Given the description of an element on the screen output the (x, y) to click on. 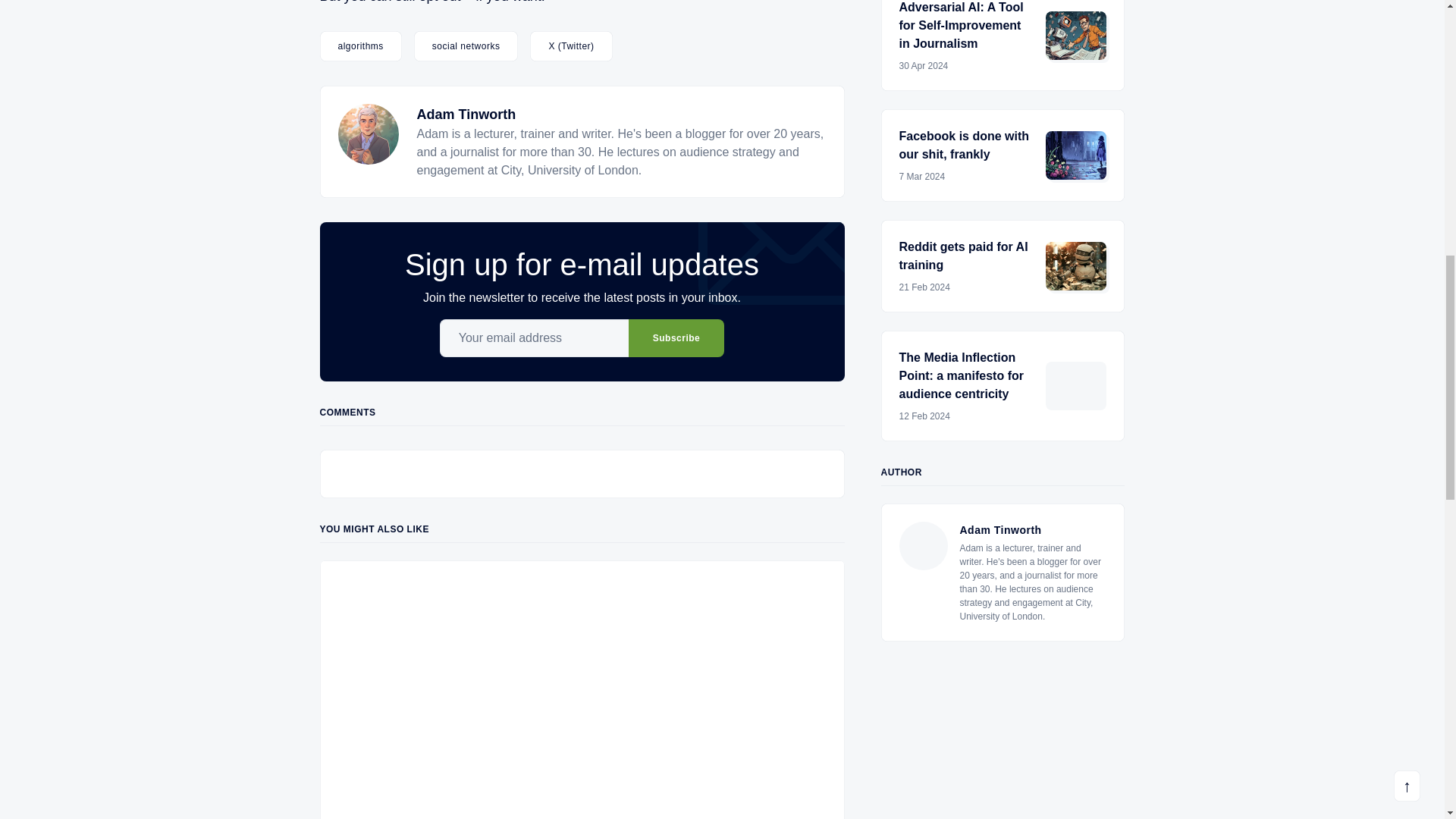
Adam Tinworth (466, 114)
algorithms (360, 46)
social networks (465, 46)
Subscribe (676, 338)
